Given the description of an element on the screen output the (x, y) to click on. 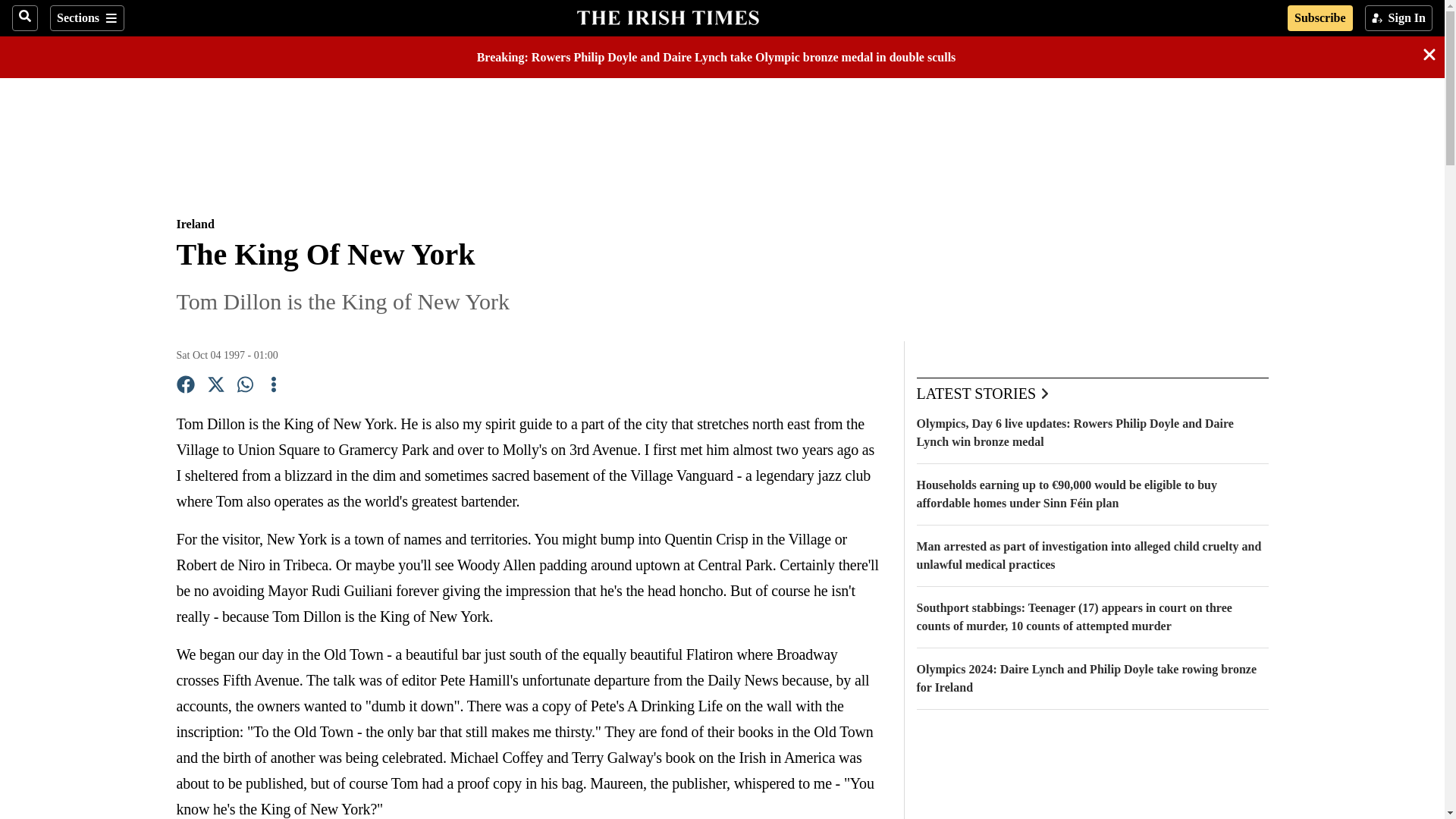
Sign In (1398, 17)
The Irish Times (667, 16)
Sections (86, 17)
Subscribe (1319, 17)
